Given the description of an element on the screen output the (x, y) to click on. 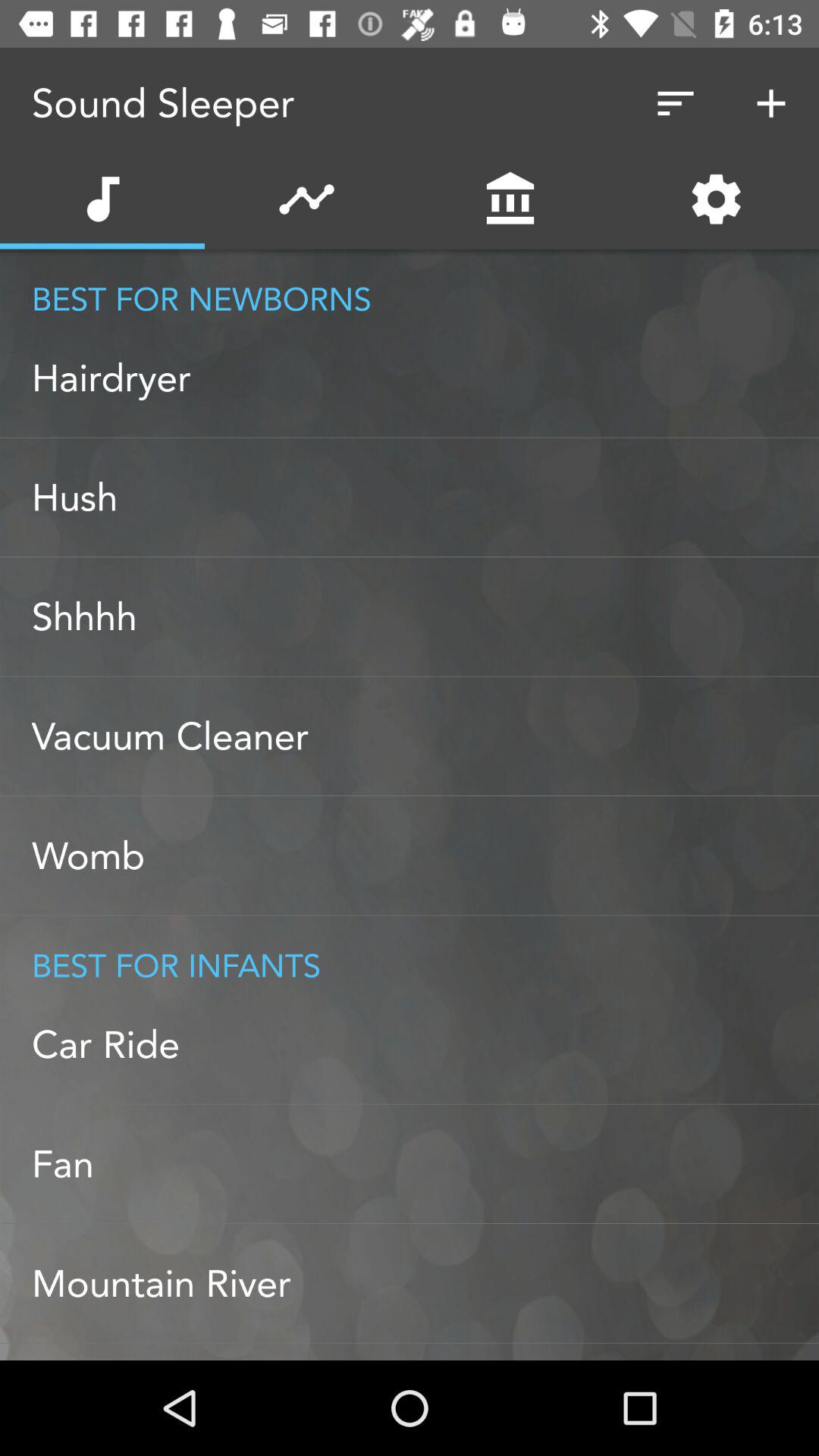
turn on mountain river (425, 1283)
